Given the description of an element on the screen output the (x, y) to click on. 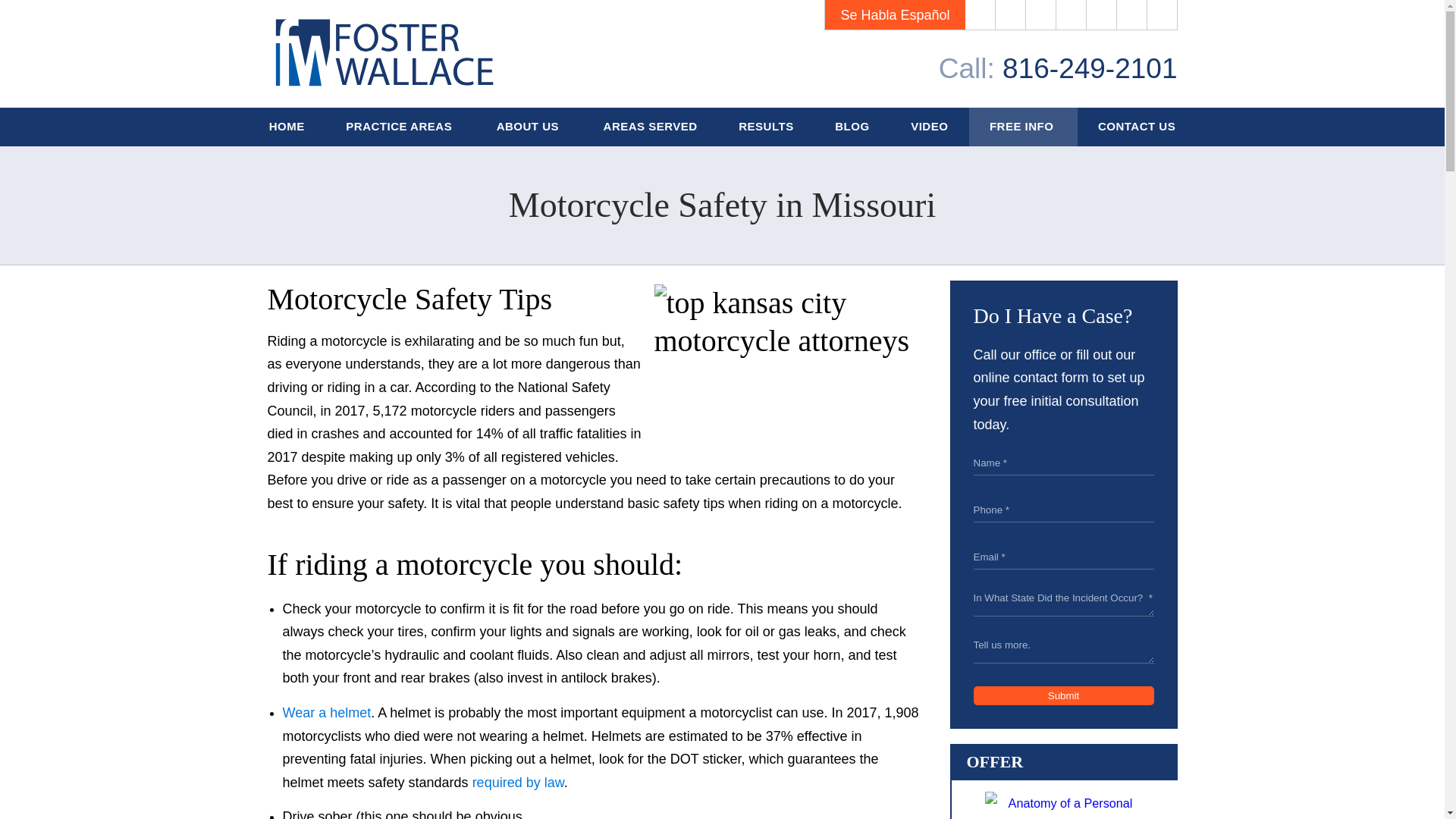
HOME (287, 126)
AREAS SERVED (649, 126)
ABOUT US (529, 126)
PRACTICE AREAS (400, 126)
Search (1161, 15)
